Given the description of an element on the screen output the (x, y) to click on. 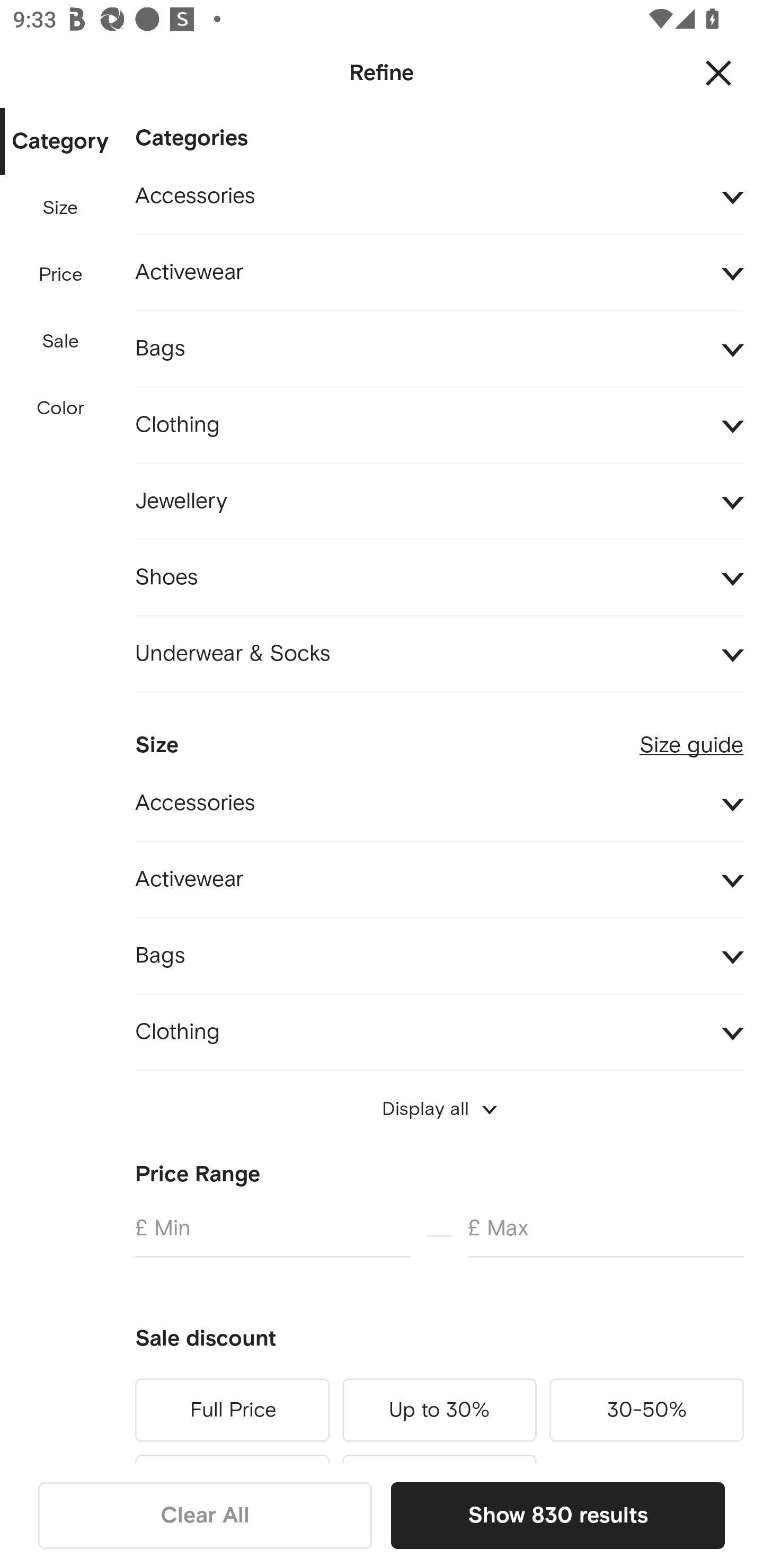
Category (60, 141)
Accessories (439, 196)
Size (60, 208)
Activewear (439, 272)
Price (60, 274)
Sale (60, 342)
Bags (439, 348)
Color (60, 408)
Clothing (439, 425)
Jewellery (439, 501)
Shoes (439, 577)
Underwear & Socks (439, 654)
Size guide (691, 737)
Accessories (439, 803)
Activewear (439, 879)
Bags (439, 955)
Clothing (439, 1032)
Display all (439, 1108)
£ Min (272, 1235)
£ Max (605, 1235)
Full Price (232, 1410)
Up to 30% (439, 1410)
30-50% (646, 1410)
Clear All (205, 1515)
Show 830 results (557, 1515)
